Given the description of an element on the screen output the (x, y) to click on. 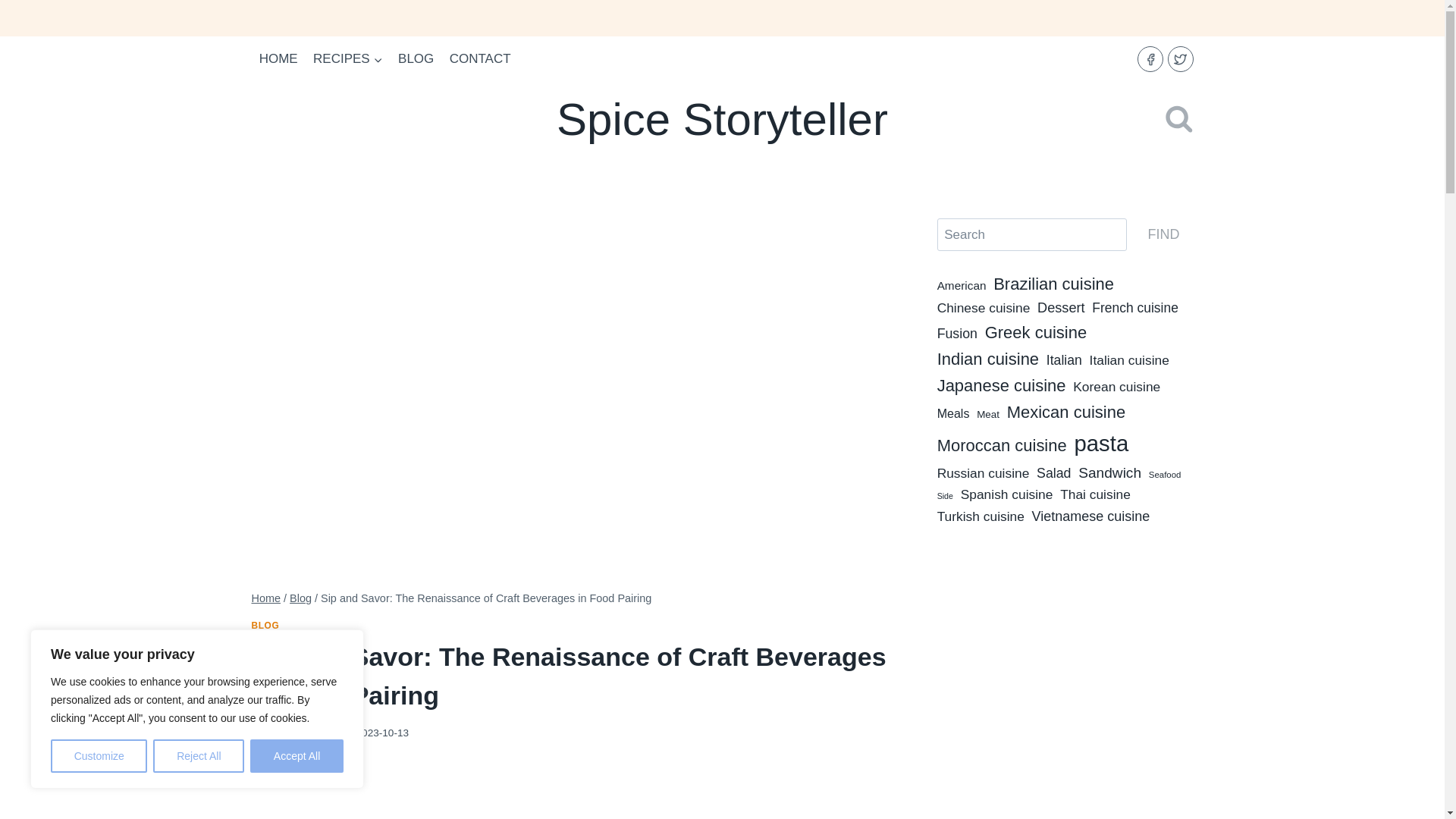
Spice Storyteller (722, 119)
Accept All (296, 756)
CONTACT (480, 58)
BLOG (416, 58)
Reject All (198, 756)
Customize (98, 756)
RECIPES (347, 58)
HOME (278, 58)
